Given the description of an element on the screen output the (x, y) to click on. 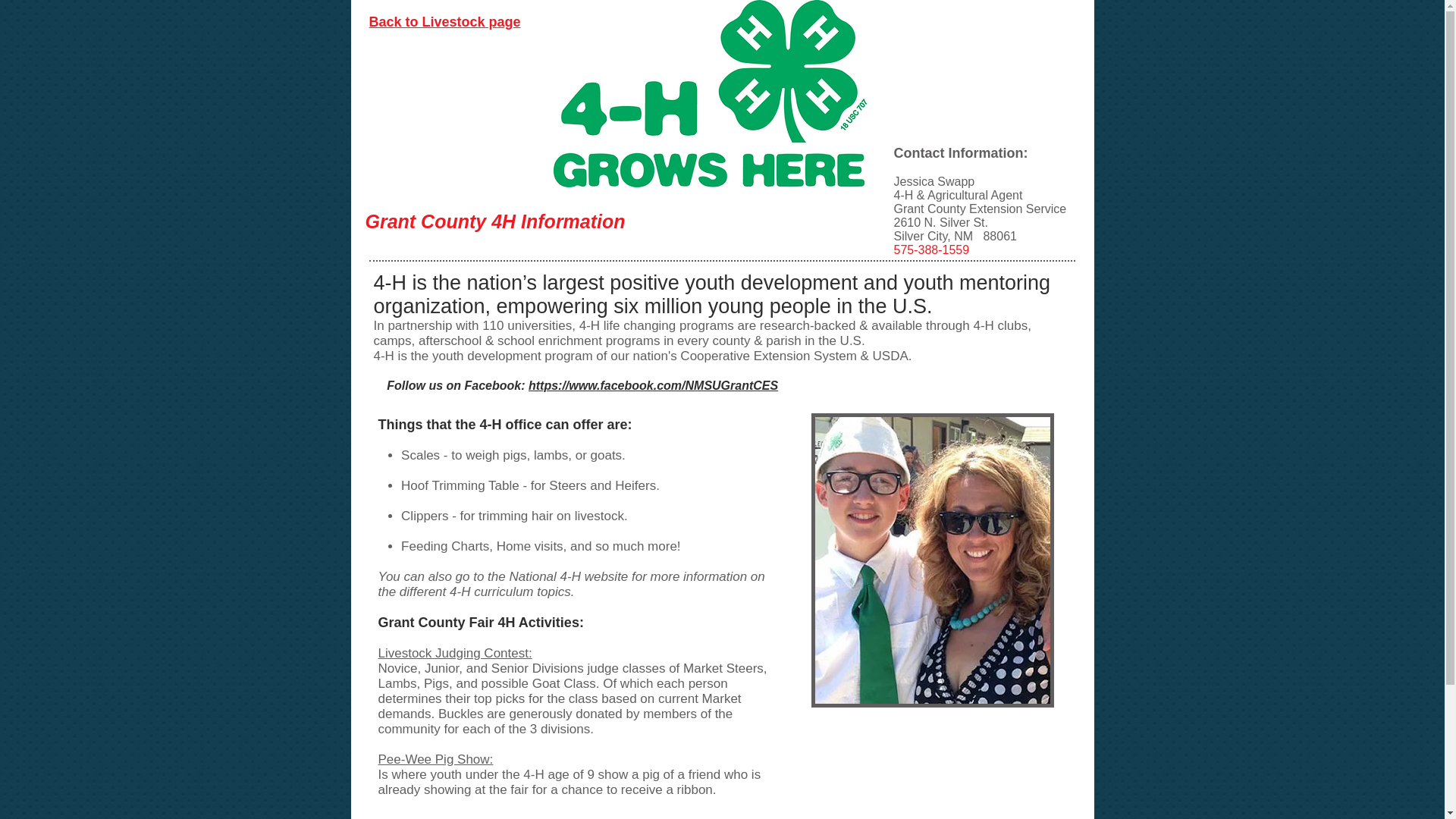
4-H curriculum topics (509, 591)
Back to Livestock page (443, 21)
